Given the description of an element on the screen output the (x, y) to click on. 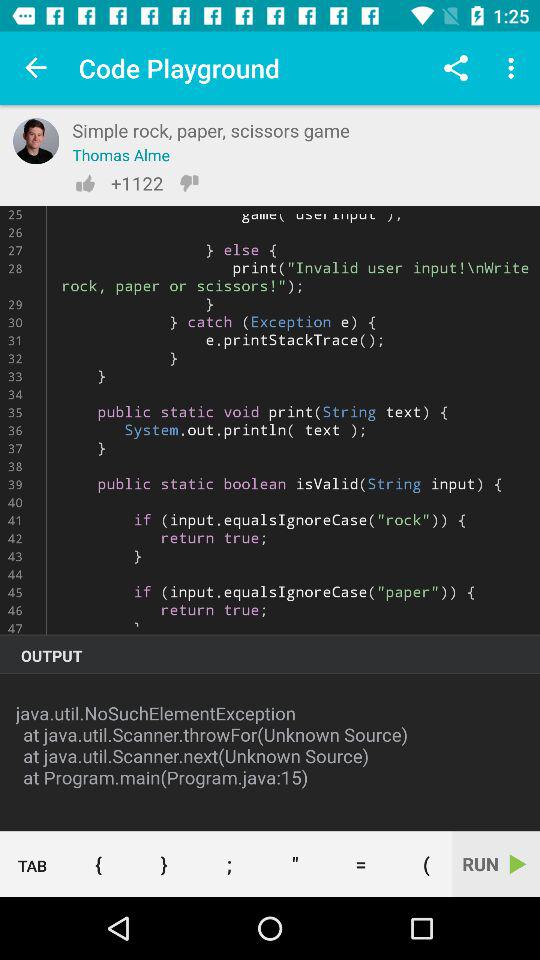
dislike (189, 183)
